Given the description of an element on the screen output the (x, y) to click on. 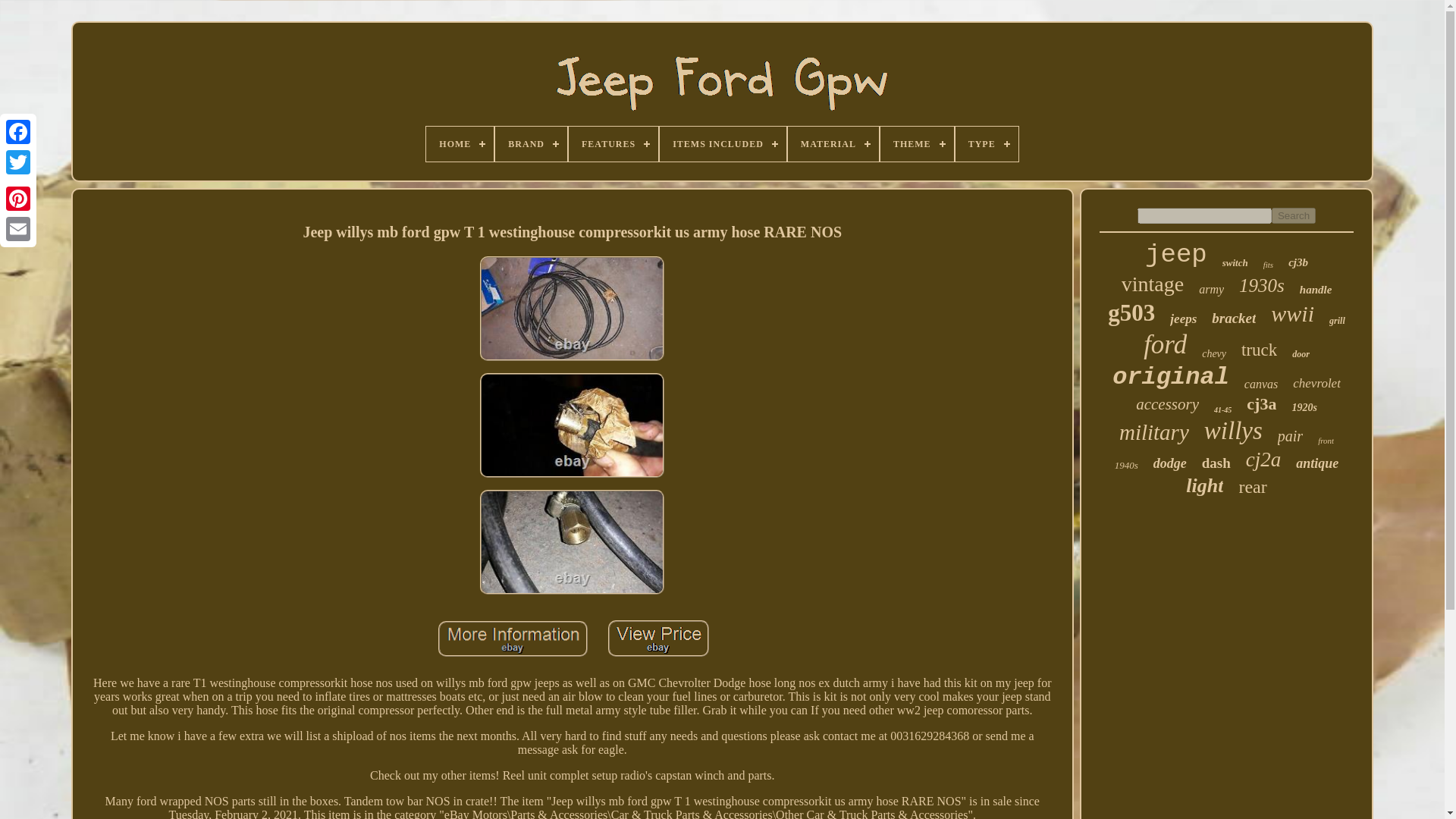
Search (1293, 215)
FEATURES (613, 143)
Facebook (17, 132)
HOME (459, 143)
BRAND (531, 143)
